Given the description of an element on the screen output the (x, y) to click on. 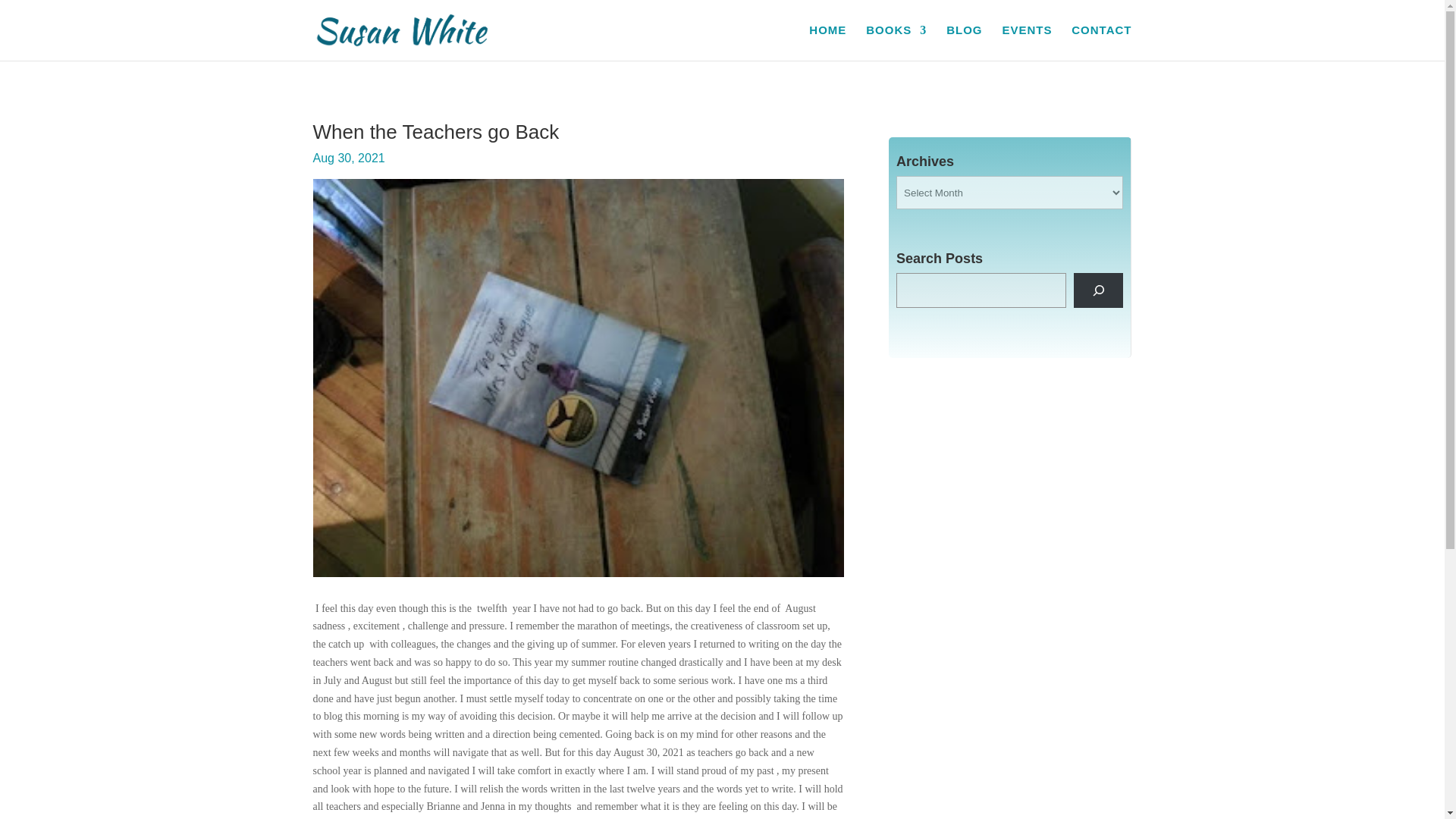
BLOG (963, 42)
HOME (827, 42)
EVENTS (1026, 42)
BOOKS (896, 42)
CONTACT (1101, 42)
